Given the description of an element on the screen output the (x, y) to click on. 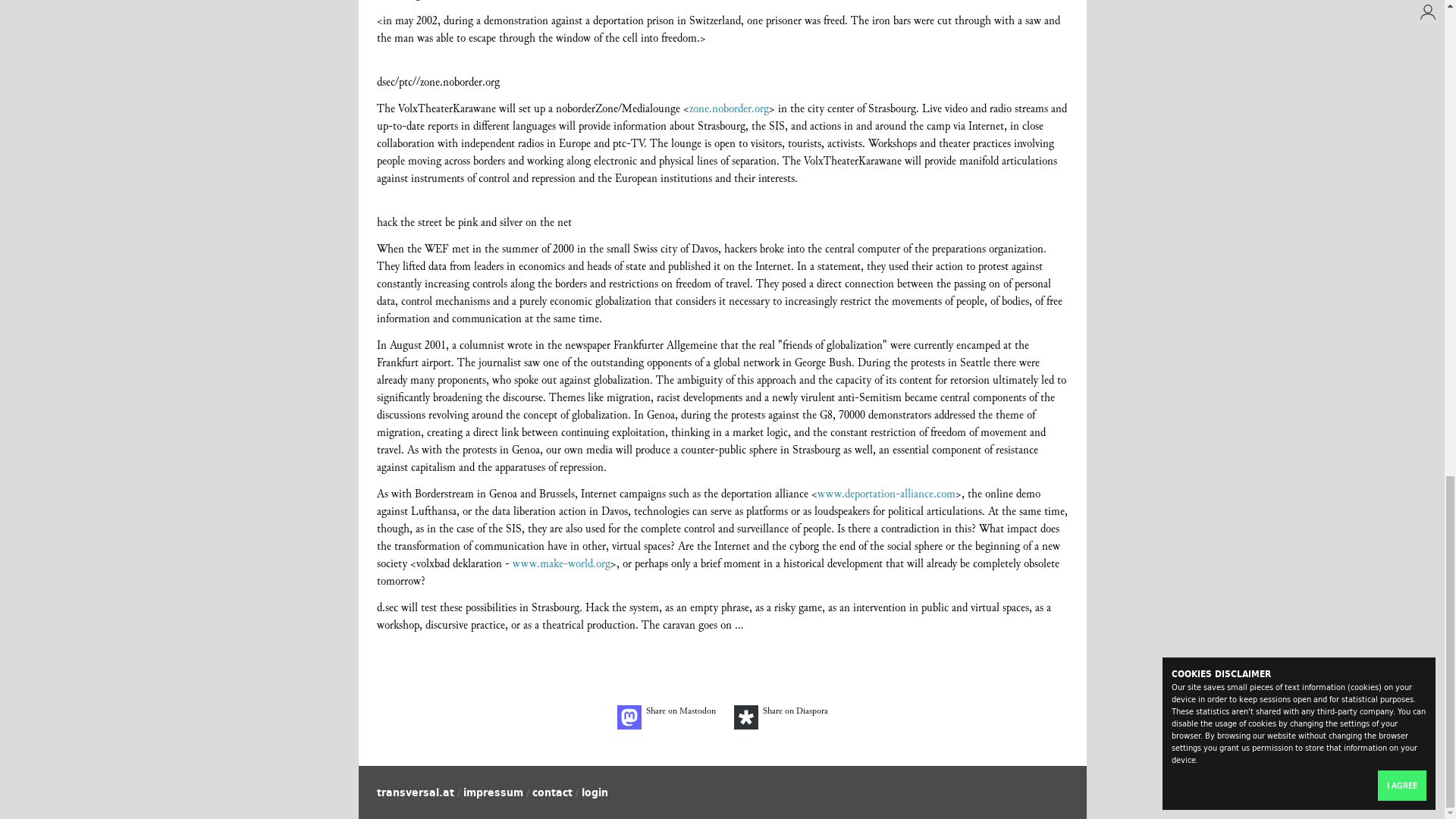
login (593, 791)
www.make-world.org (561, 563)
www.deportation-alliance.com (885, 493)
Share on Mastodon (666, 717)
impressum (492, 791)
contact (552, 791)
transversal.at (413, 791)
zone.noborder.org (728, 108)
Share on Diaspora (780, 717)
